Given the description of an element on the screen output the (x, y) to click on. 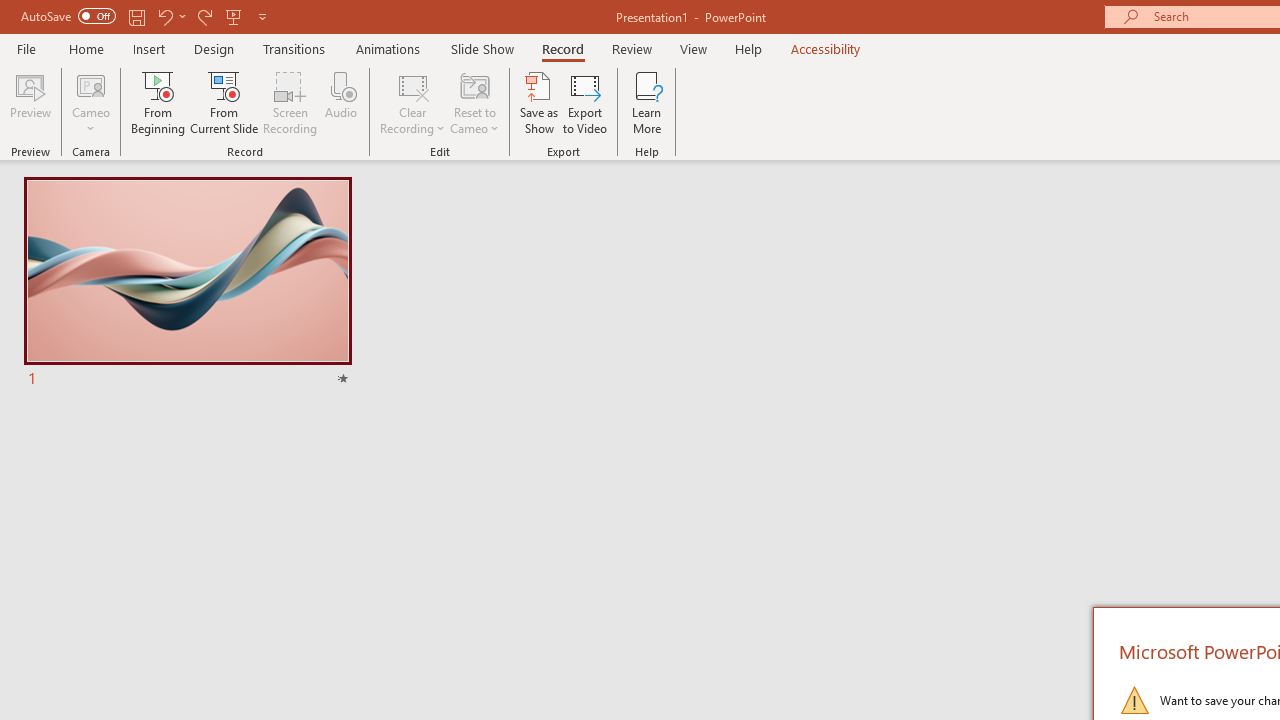
From Current Slide... (224, 102)
From Beginning... (158, 102)
Screen Recording (290, 102)
Clear Recording (412, 102)
Learn More (646, 102)
Export to Video (585, 102)
